Given the description of an element on the screen output the (x, y) to click on. 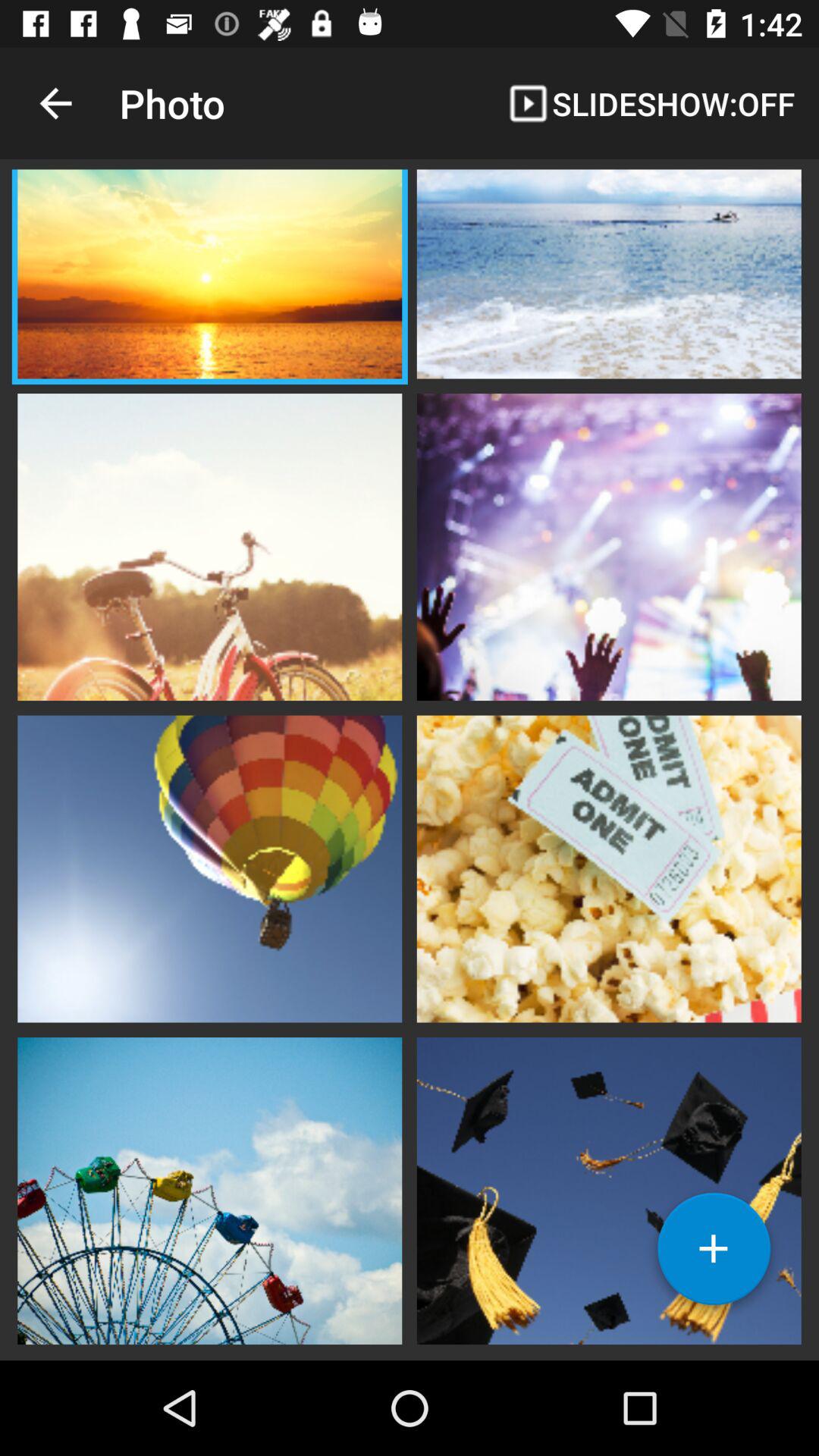
choose this image (609, 1189)
